Given the description of an element on the screen output the (x, y) to click on. 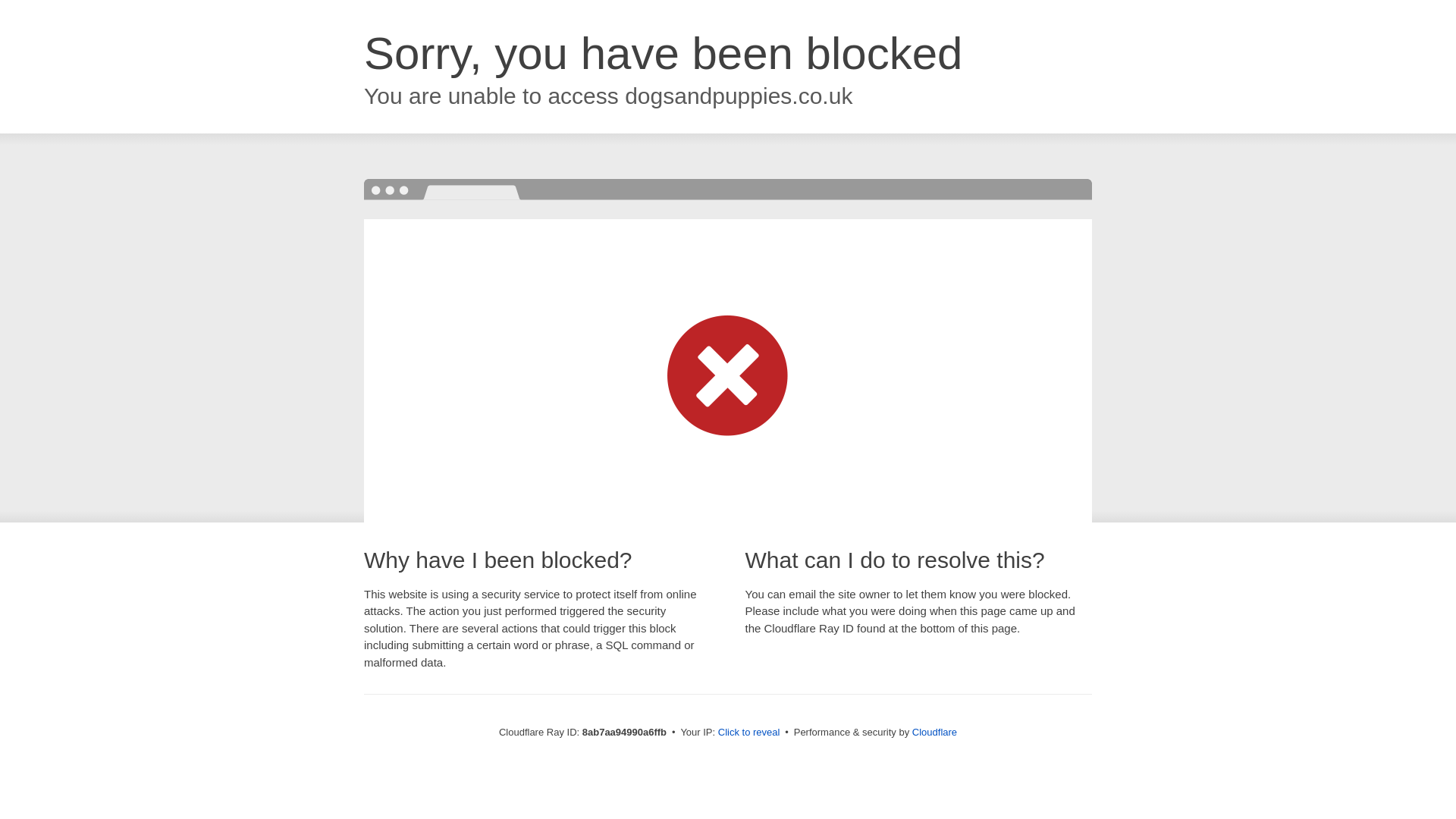
Click to reveal (748, 732)
Cloudflare (934, 731)
